Given the description of an element on the screen output the (x, y) to click on. 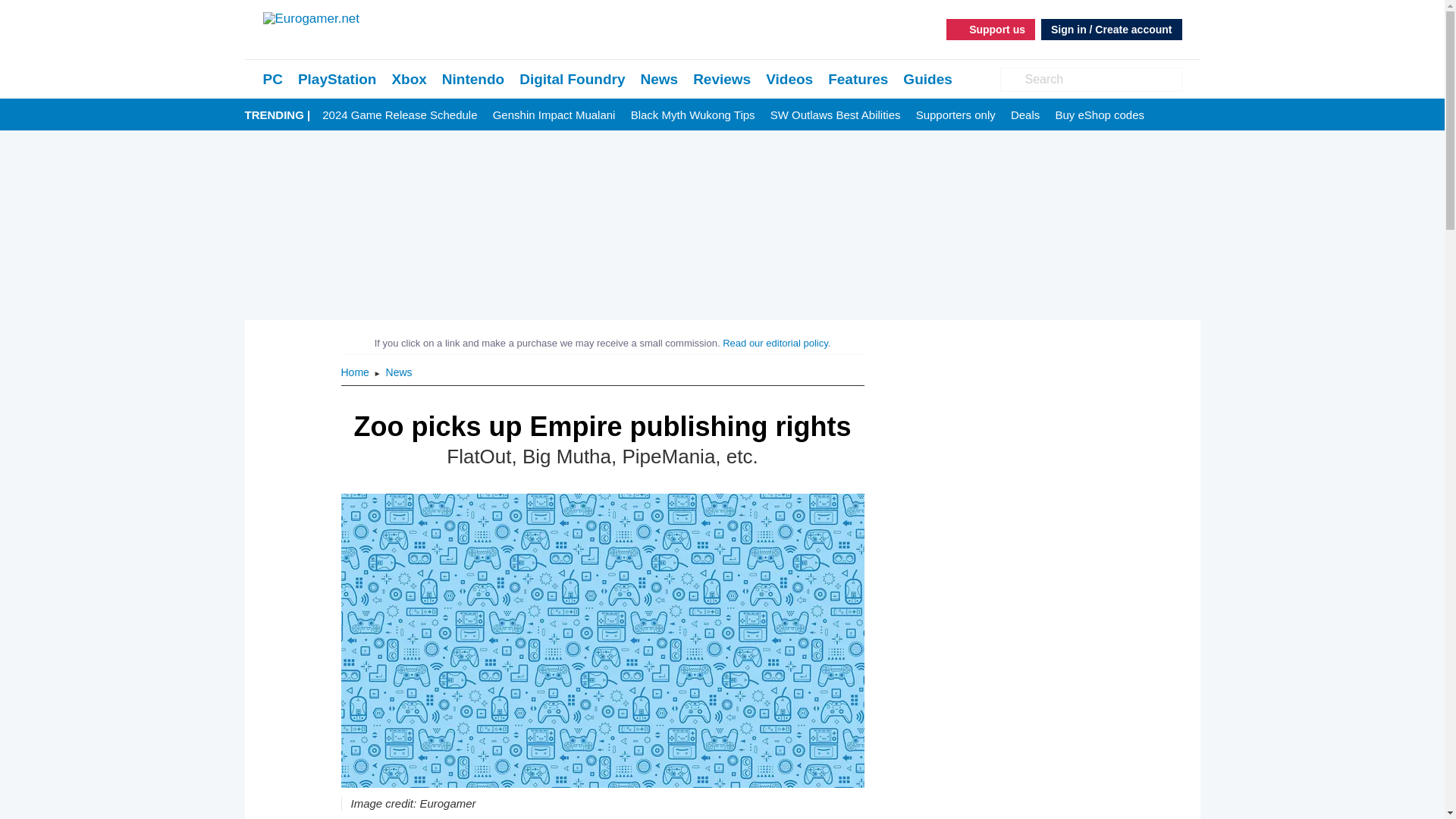
Xbox (408, 78)
News (659, 78)
Videos (788, 78)
2024 Game Release Schedule (399, 114)
Features (858, 78)
Read our editorial policy (775, 342)
Guides (927, 78)
Digital Foundry (571, 78)
Videos (788, 78)
SW Outlaws Best Abilities (835, 114)
